Given the description of an element on the screen output the (x, y) to click on. 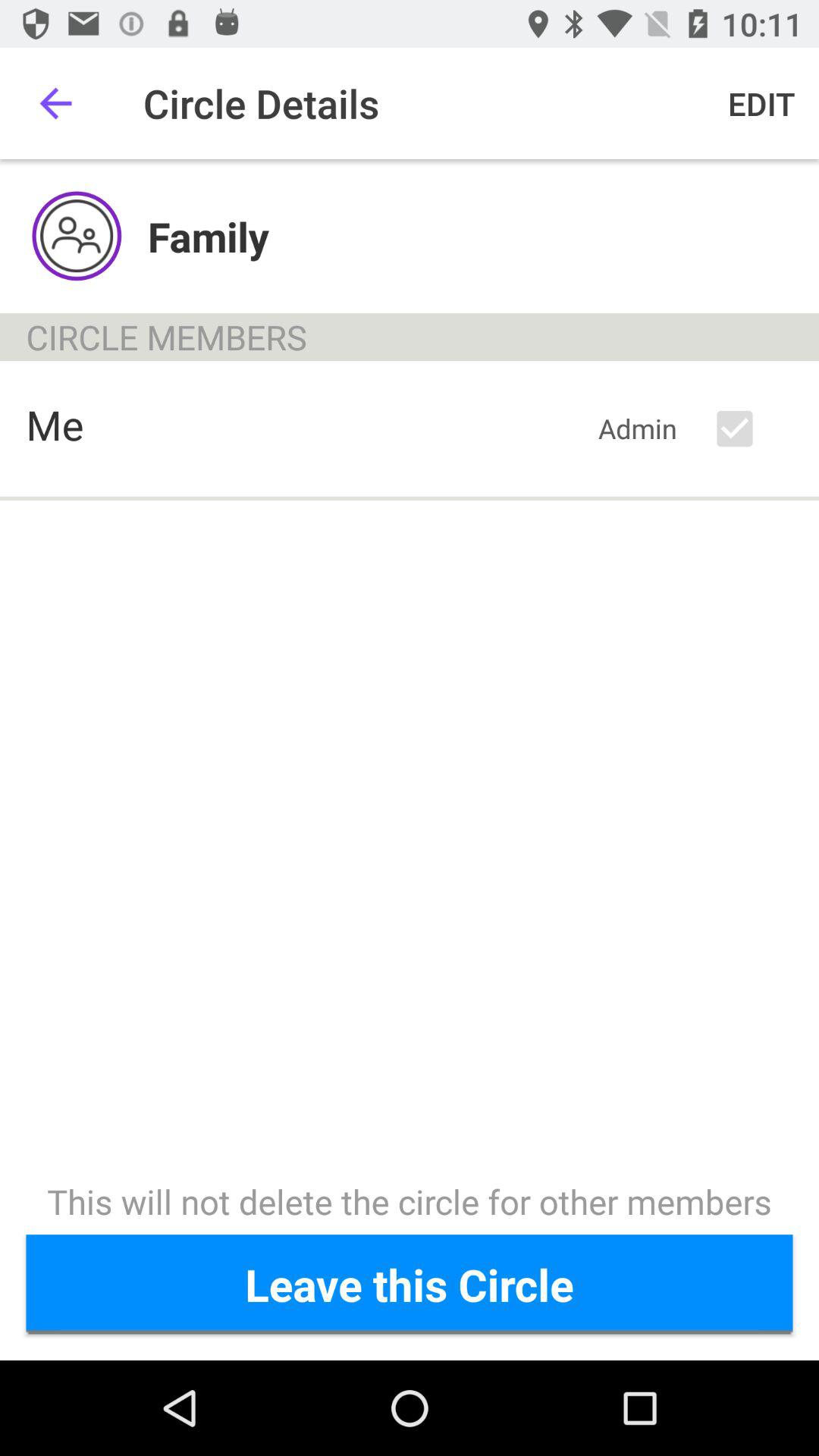
tap the check box which is next to the admin (747, 429)
